Given the description of an element on the screen output the (x, y) to click on. 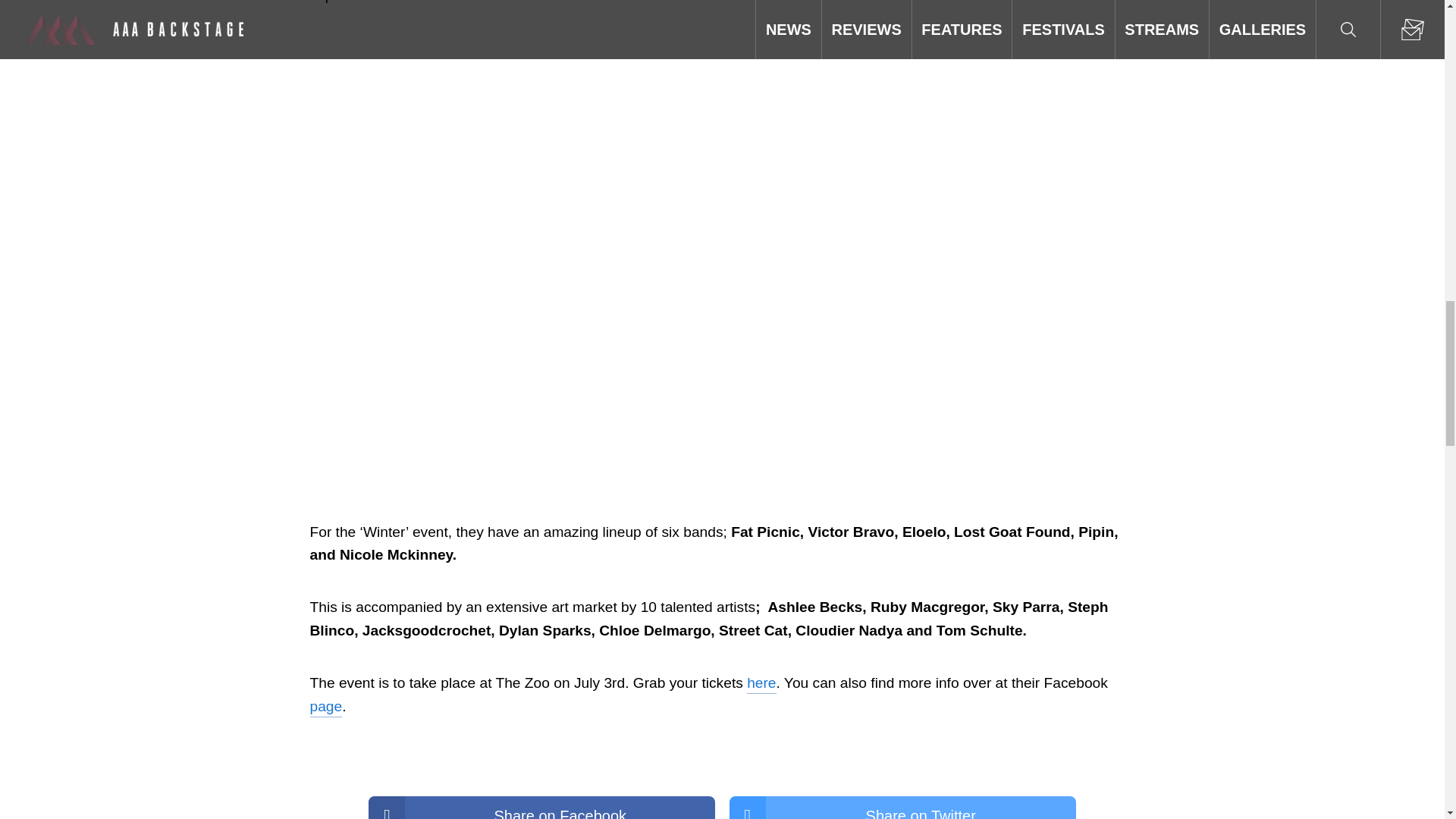
Share on Facebook (541, 807)
here (761, 683)
Share on Twitter (902, 807)
page (325, 707)
